Given the description of an element on the screen output the (x, y) to click on. 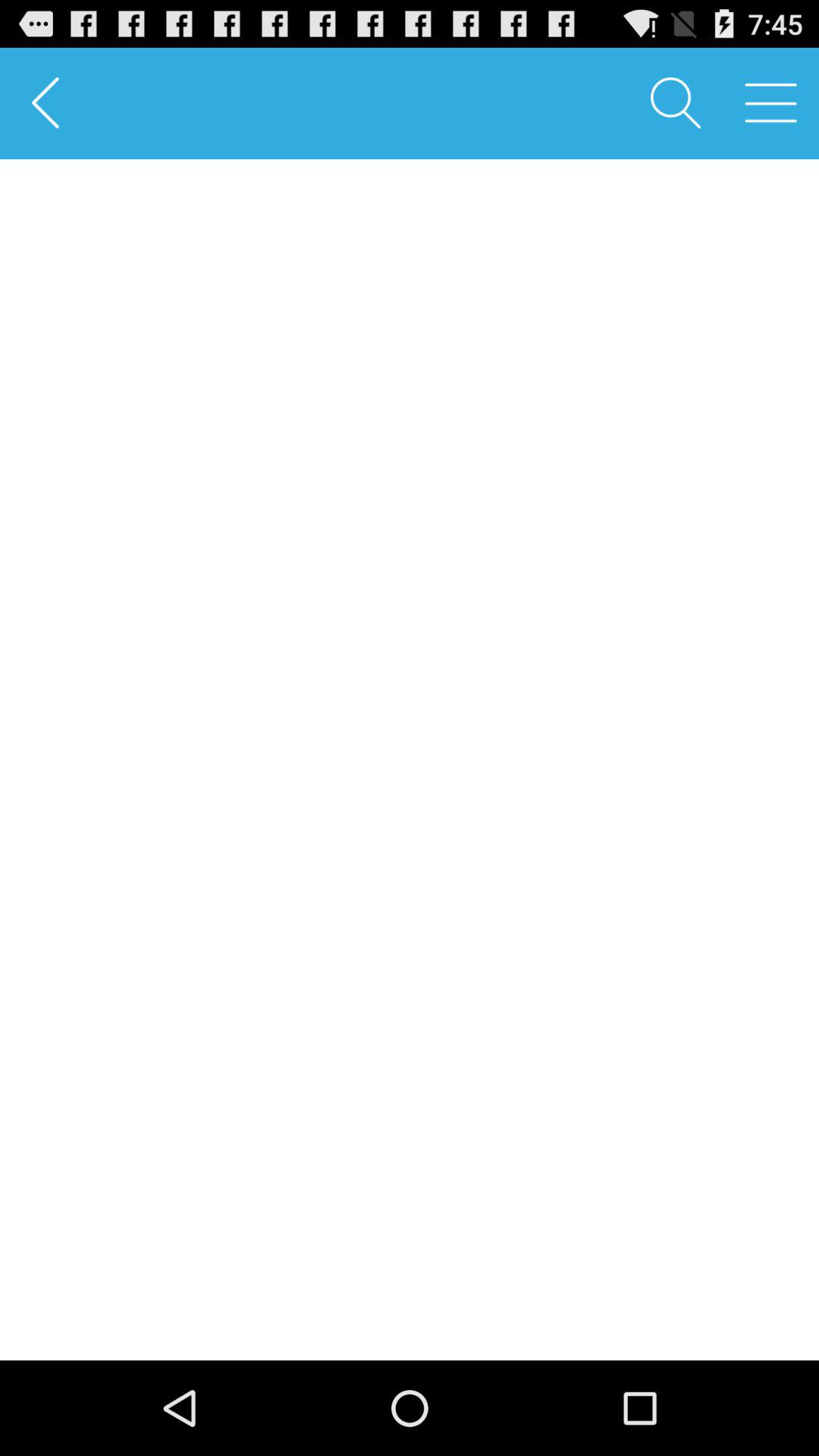
press the item at the center (409, 759)
